Given the description of an element on the screen output the (x, y) to click on. 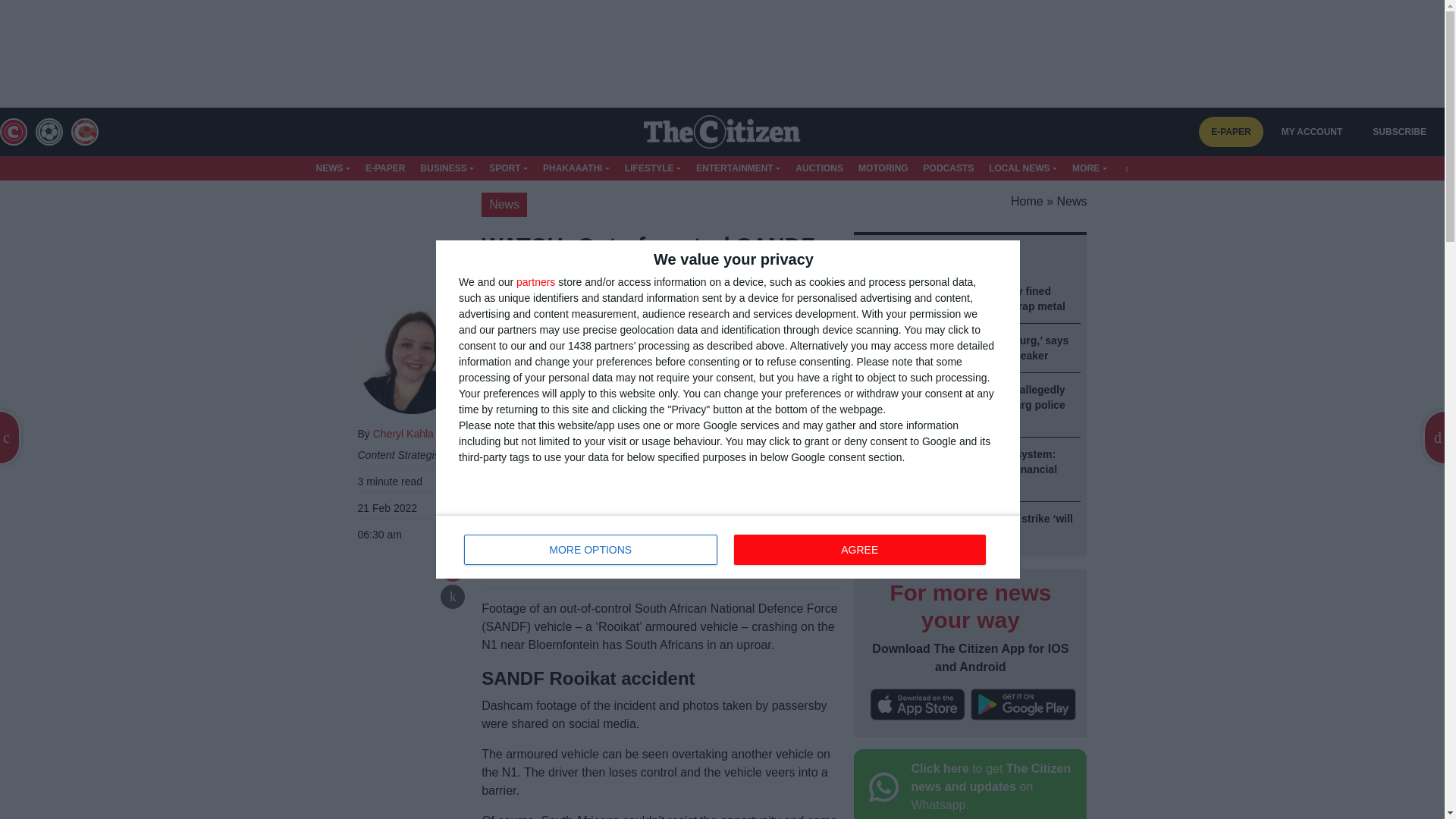
AGREE (859, 549)
MORE OPTIONS (590, 549)
partners (535, 281)
